Given the description of an element on the screen output the (x, y) to click on. 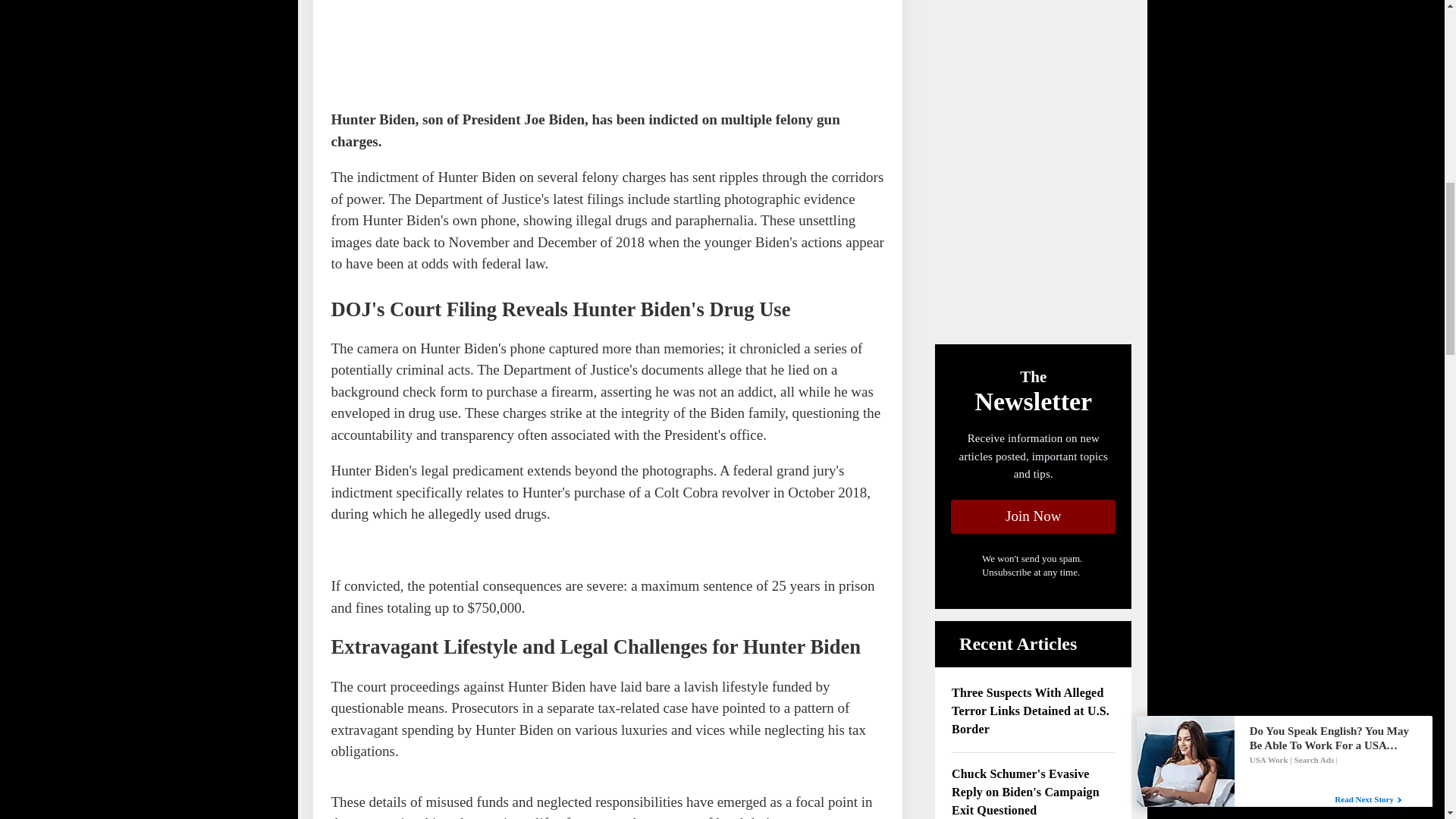
Join Now (1032, 516)
Advertisement (443, 44)
